Given the description of an element on the screen output the (x, y) to click on. 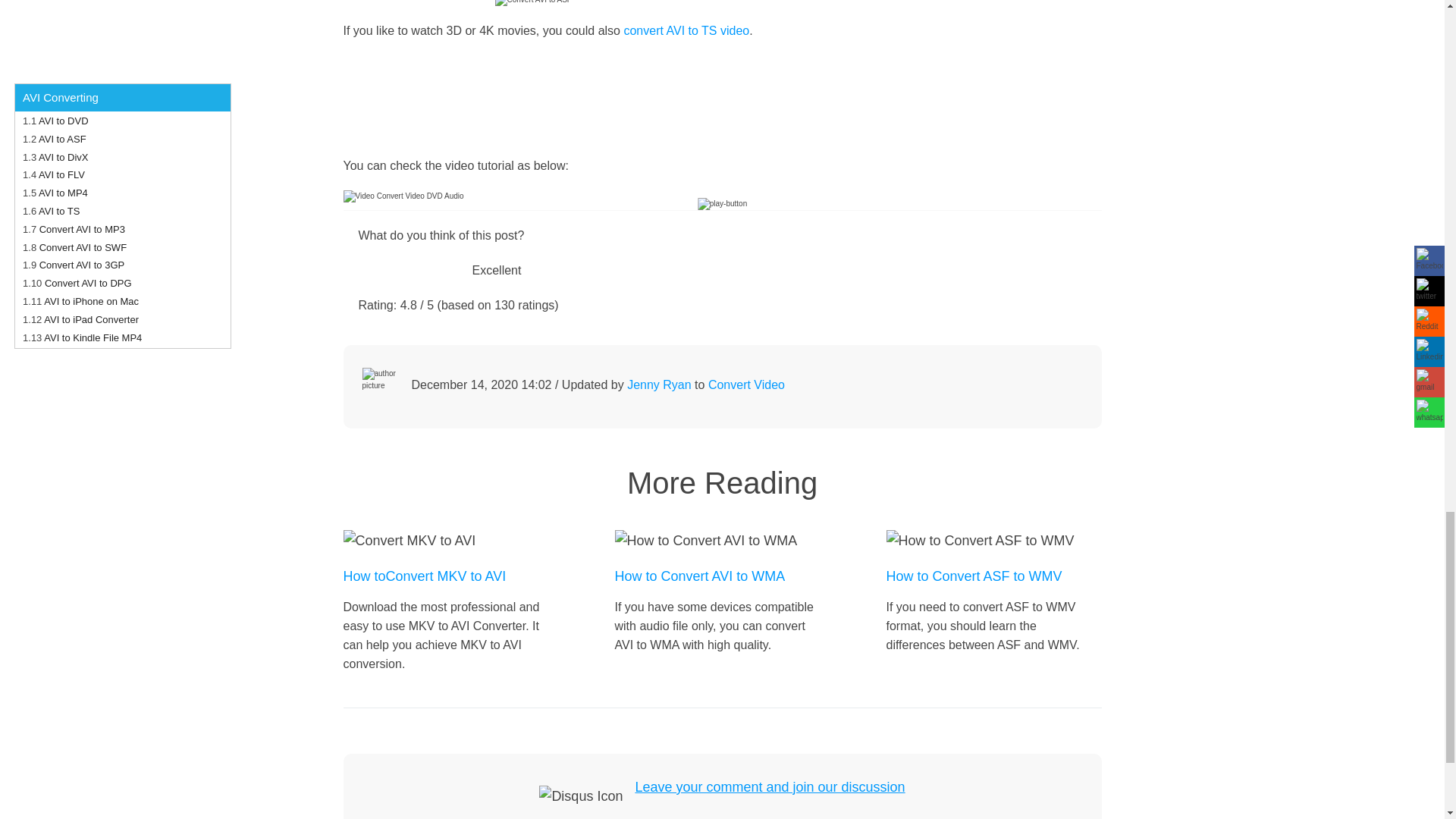
Jenny Ryan (659, 384)
Convert Video (745, 384)
convert AVI to TS video (686, 30)
